Given the description of an element on the screen output the (x, y) to click on. 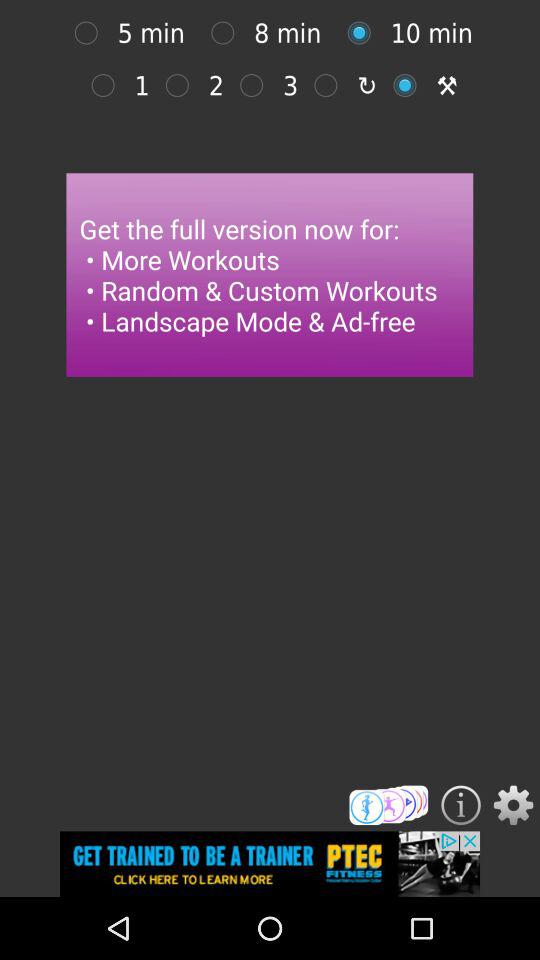
toggle 5 min option (91, 32)
